Given the description of an element on the screen output the (x, y) to click on. 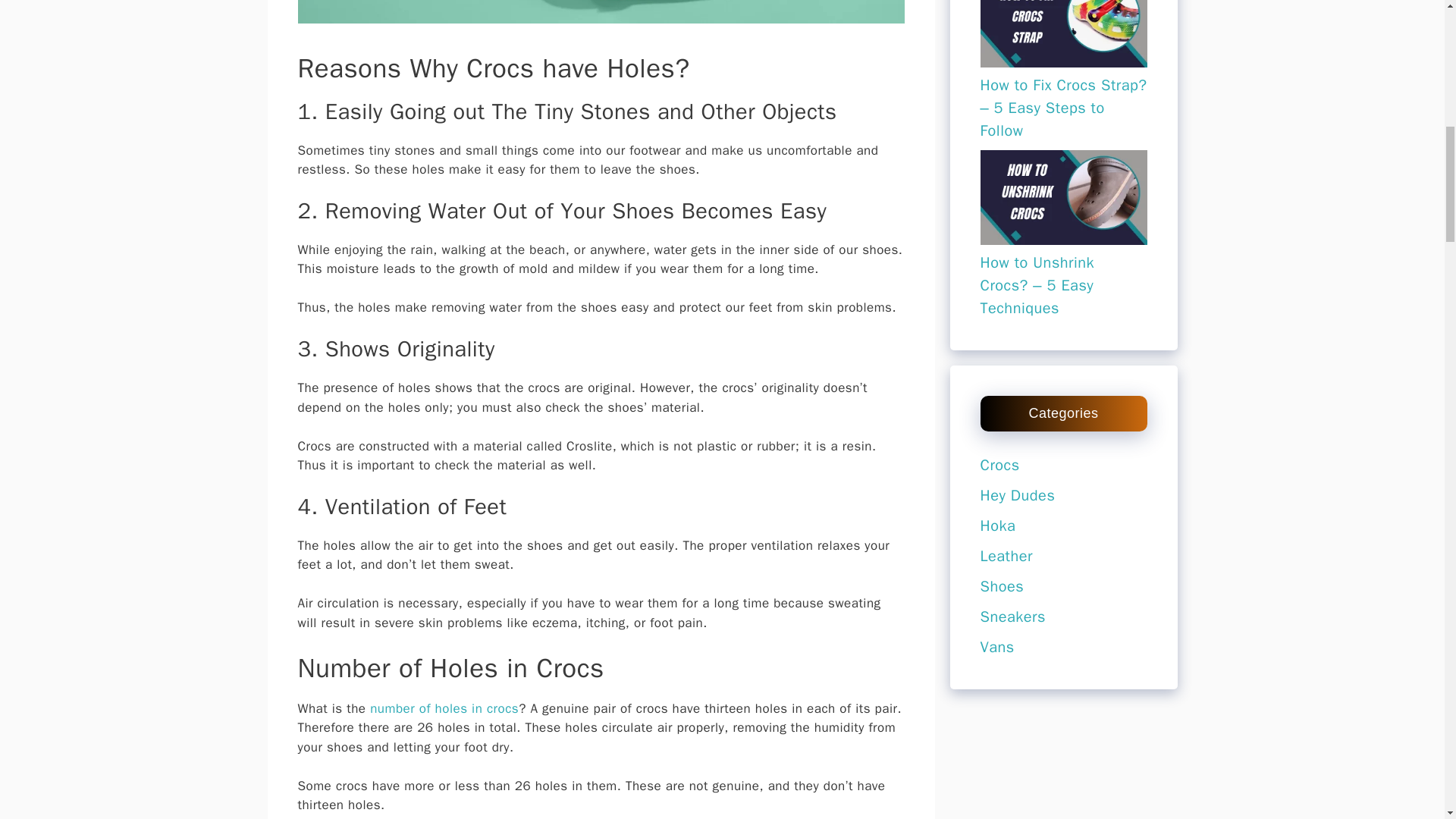
Vans (996, 647)
Shoes (1001, 586)
Crocs (999, 465)
number of holes in crocs (443, 708)
Hoka (996, 525)
Hey Dudes (1016, 495)
Leather (1005, 556)
Sneakers (1012, 616)
